Given the description of an element on the screen output the (x, y) to click on. 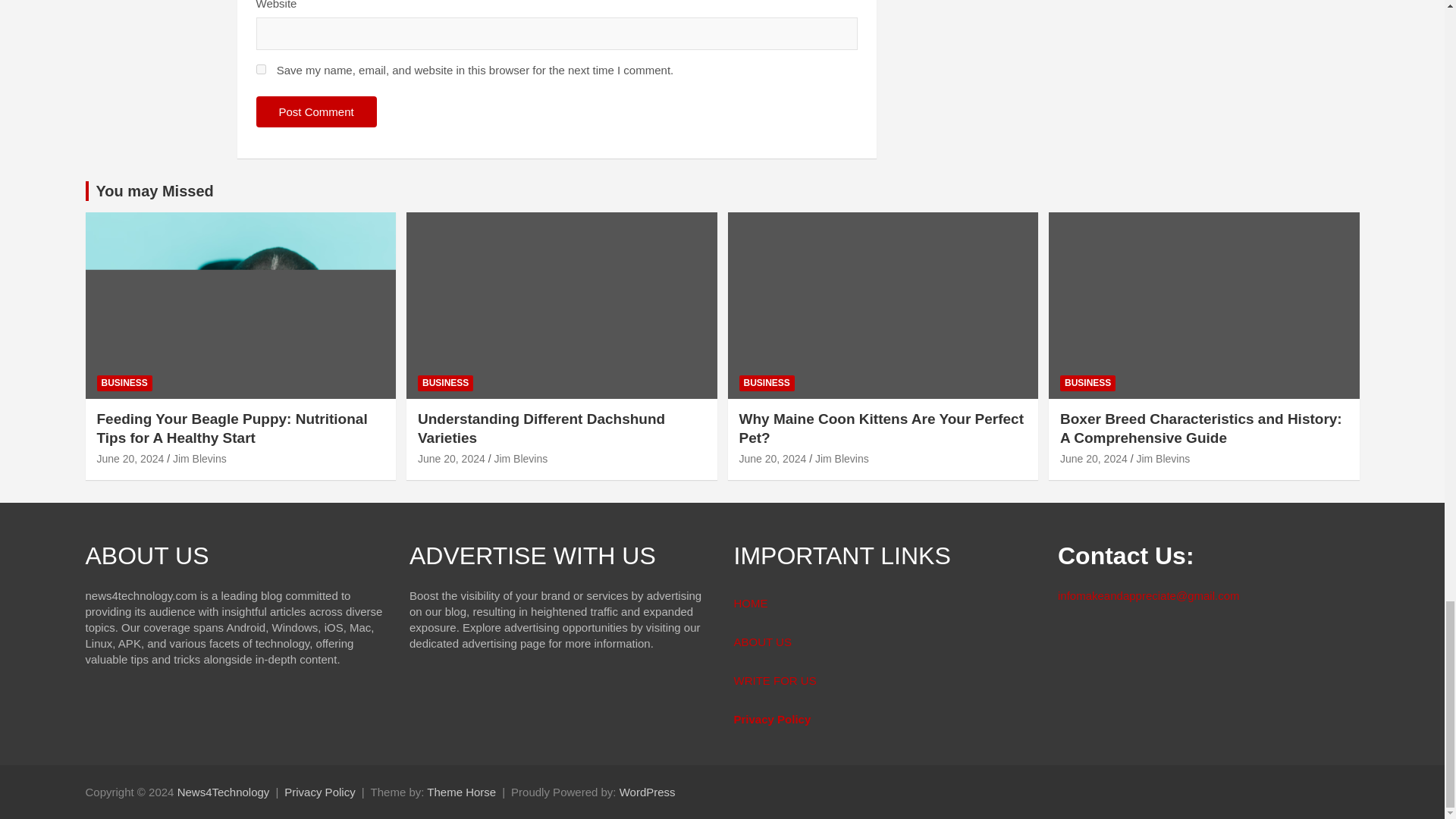
Why Maine Coon Kittens Are Your Perfect Pet? (772, 458)
Understanding Different Dachshund Varieties (450, 458)
Theme Horse (461, 791)
Post Comment (316, 111)
yes (261, 69)
News4Technology (223, 791)
Post Comment (316, 111)
WordPress (647, 791)
